Given the description of an element on the screen output the (x, y) to click on. 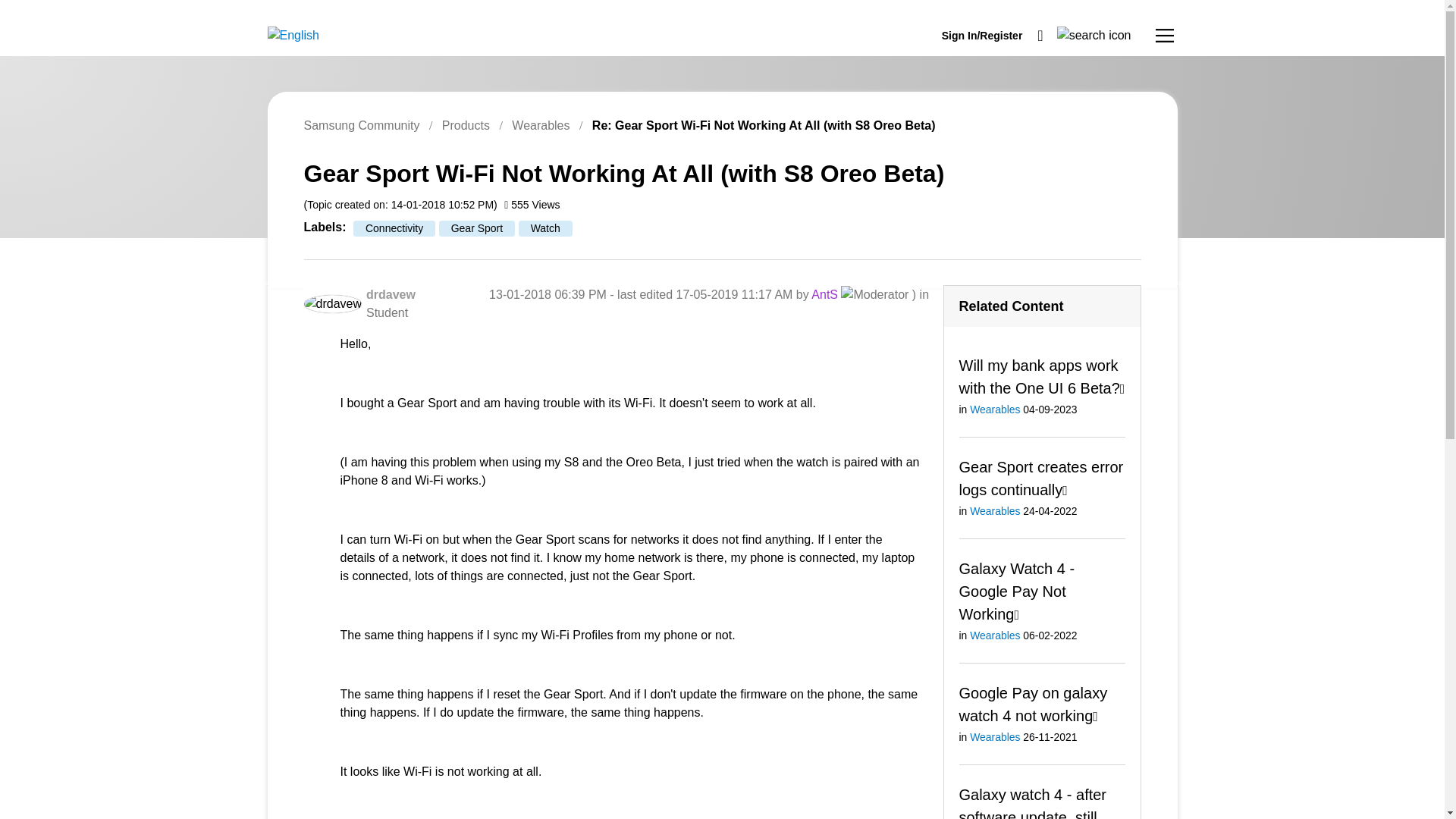
Moderator (874, 294)
Watch (545, 228)
Community (1164, 35)
Products (465, 124)
Gear Sport (477, 228)
Wearables (540, 124)
drdavew (390, 294)
drdavew (331, 303)
Connectivity (394, 228)
AntS (824, 294)
English (292, 34)
Samsung Community (360, 124)
English (292, 35)
